Given the description of an element on the screen output the (x, y) to click on. 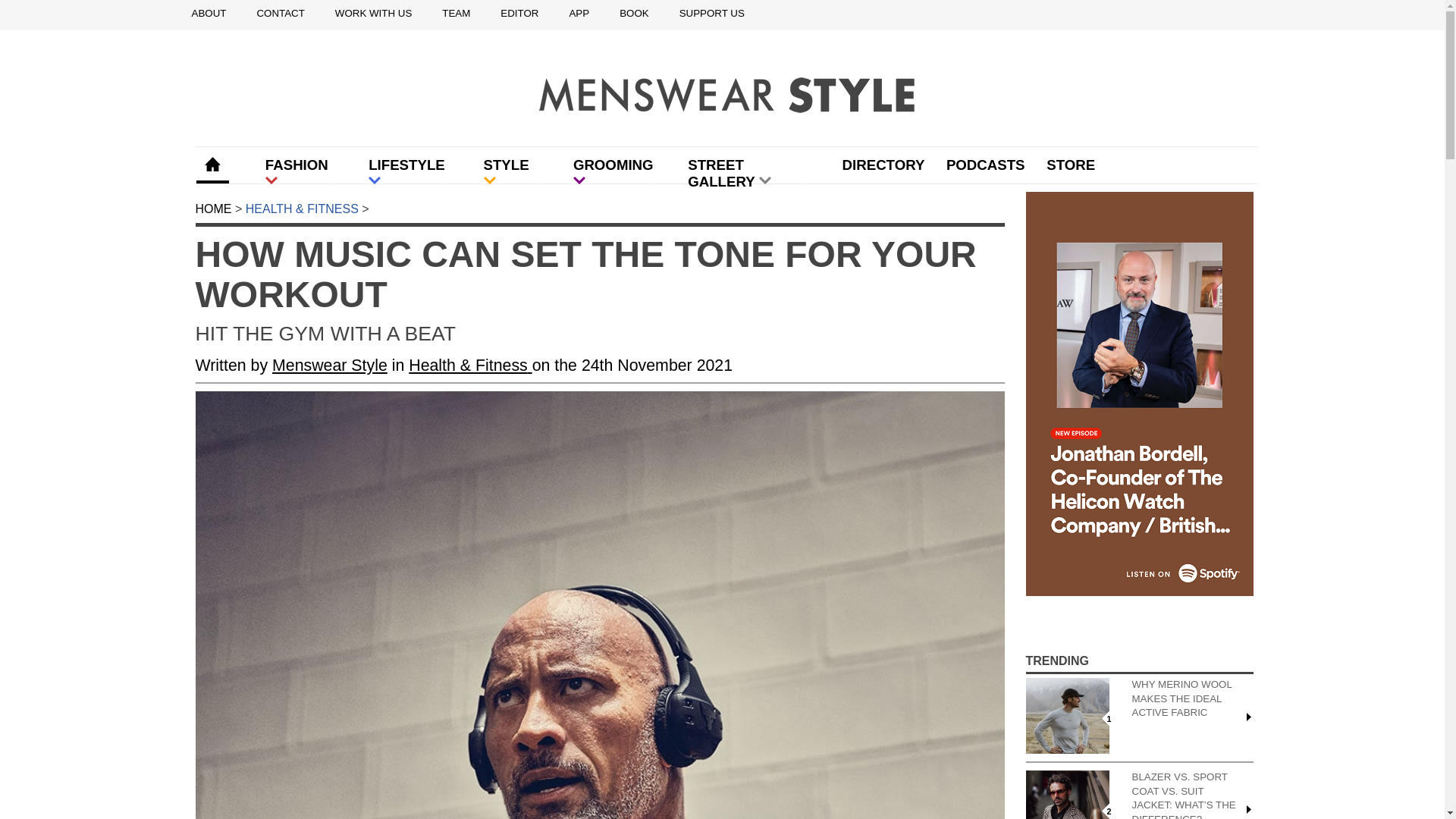
SUPPORT US (711, 13)
LIFESTYLE (407, 173)
BOOK (634, 13)
work with us (373, 13)
FASHION (297, 173)
CONTACT (280, 13)
STYLE (510, 173)
team (456, 13)
EDITOR (519, 13)
app (579, 13)
Why Merino Wool Makes the Ideal Active Fabric (1066, 715)
ABOUT (207, 13)
WORK WITH US (373, 13)
book (634, 13)
